Given the description of an element on the screen output the (x, y) to click on. 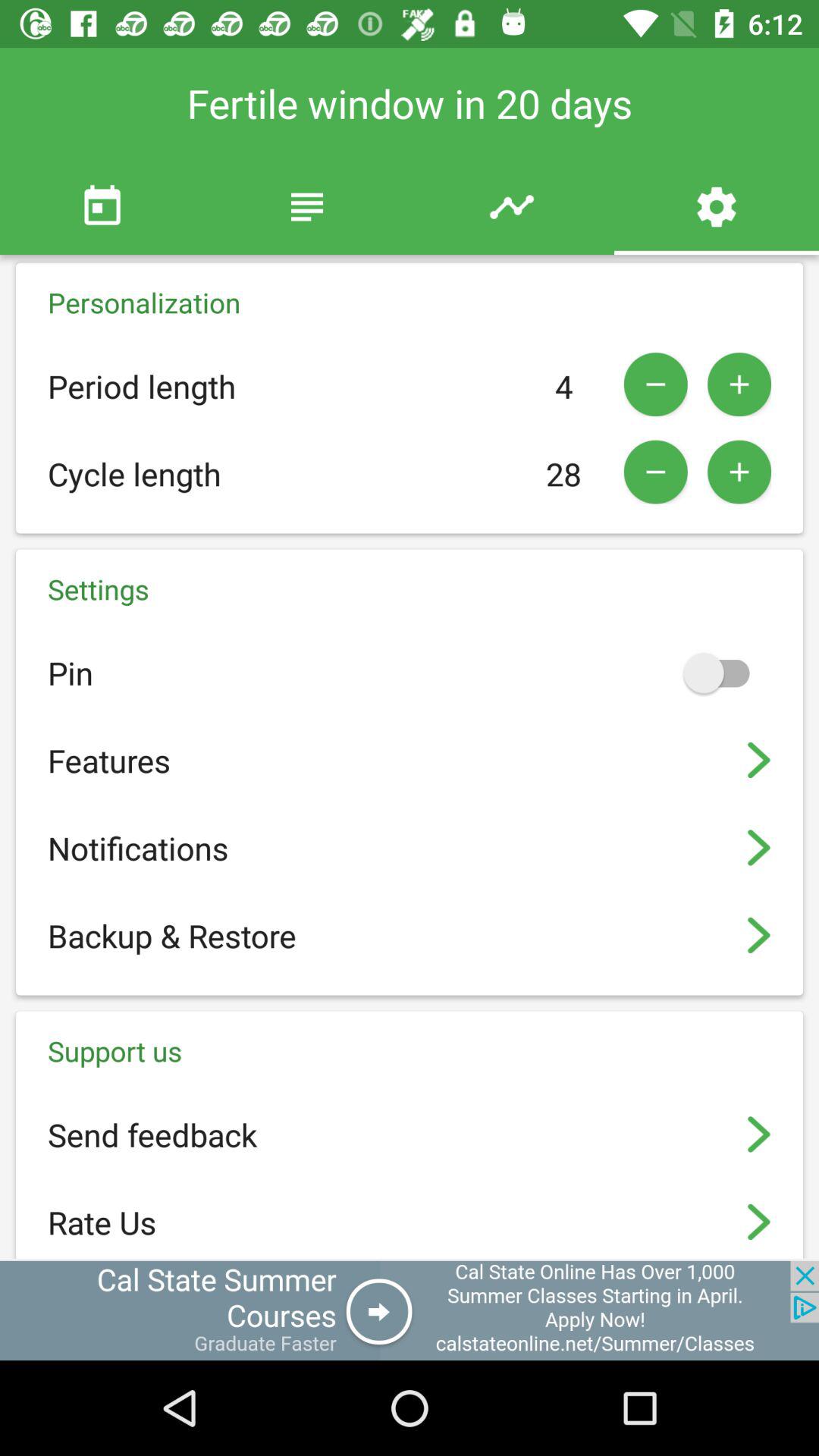
advertisement page (409, 1310)
